Given the description of an element on the screen output the (x, y) to click on. 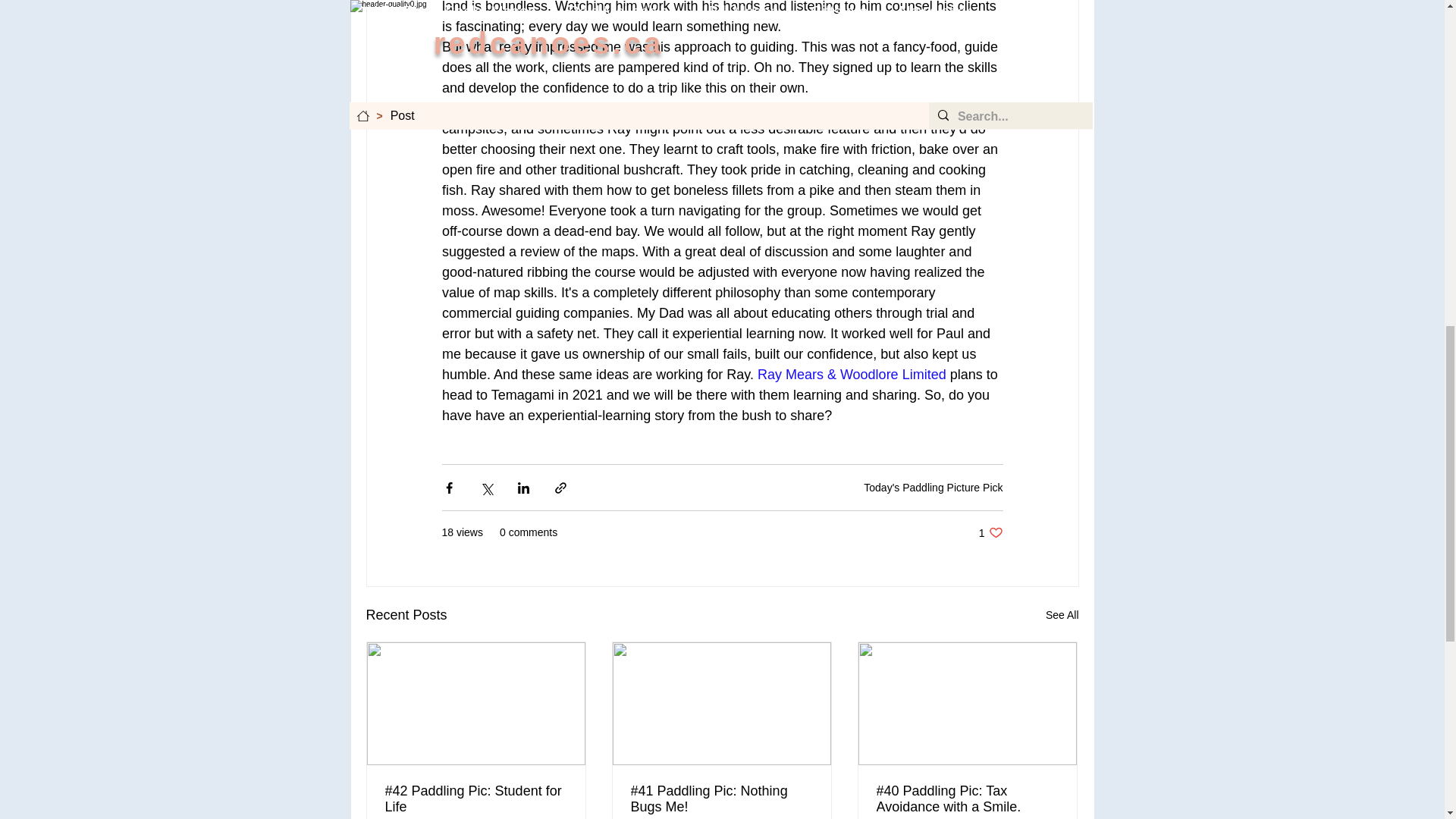
Today's Paddling Picture Pick (933, 487)
